Given the description of an element on the screen output the (x, y) to click on. 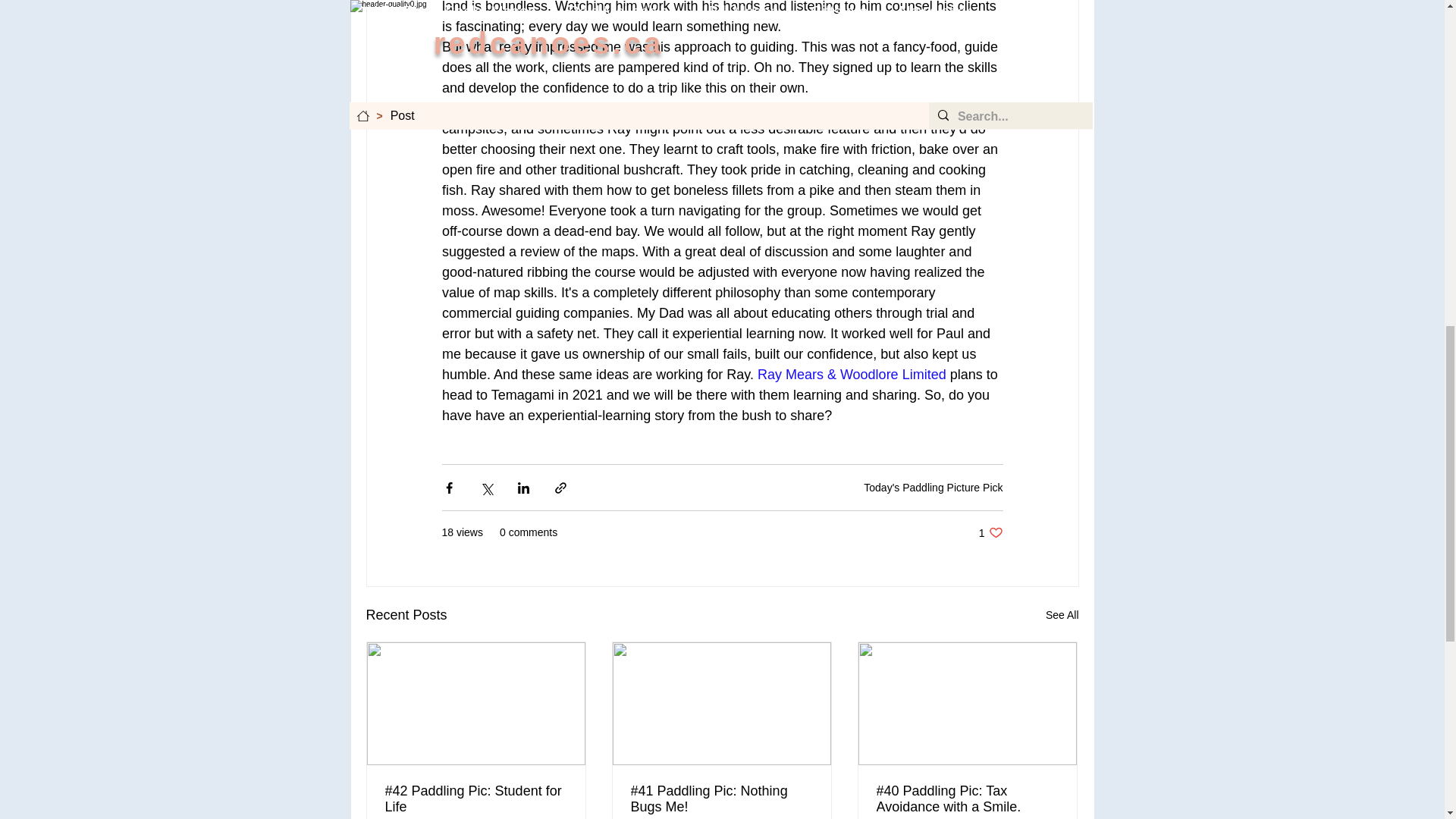
Today's Paddling Picture Pick (933, 487)
